Given the description of an element on the screen output the (x, y) to click on. 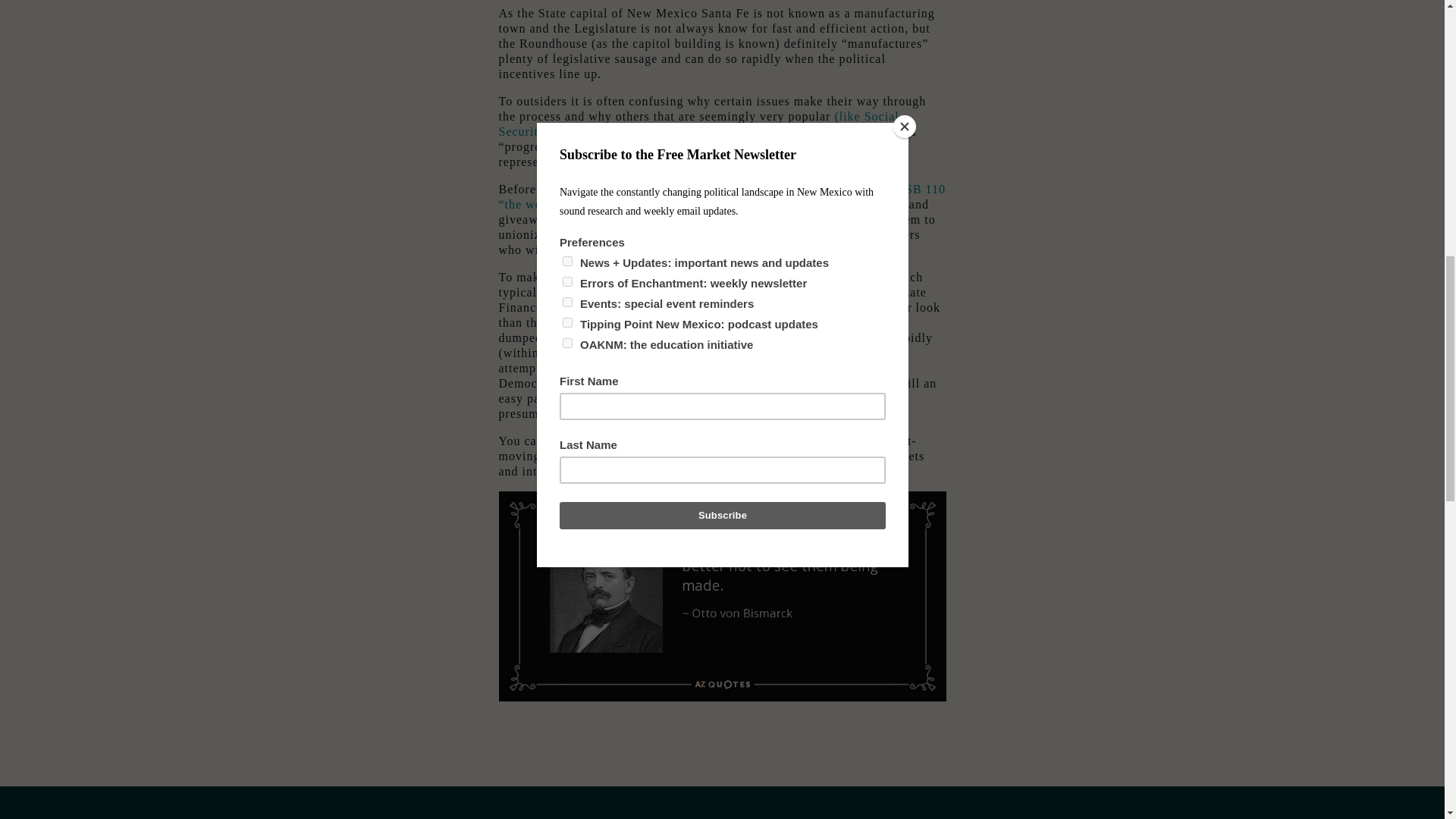
SB 110 (825, 440)
HB 364 (622, 455)
